Given the description of an element on the screen output the (x, y) to click on. 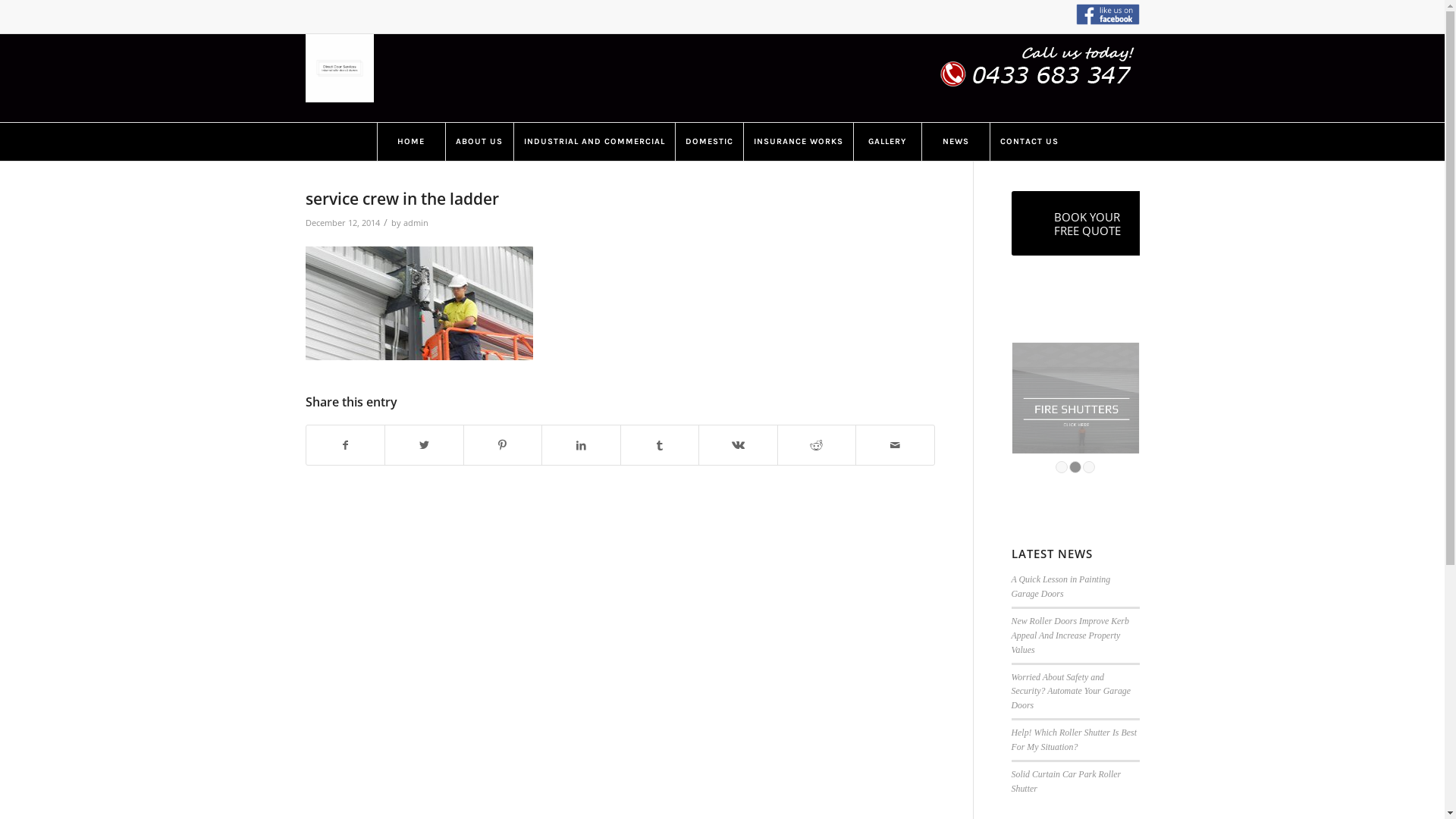
Help! Which Roller Shutter Is Best For My Situation? Element type: text (1073, 739)
1 Element type: text (1061, 467)
DOMESTIC Element type: text (708, 141)
NEWS Element type: text (954, 141)
GALLERY Element type: text (886, 141)
2 Element type: text (1075, 467)
INDUSTRIAL AND COMMERCIAL Element type: text (593, 141)
admin Element type: text (415, 222)
ABOUT US Element type: text (478, 141)
BOOK YOUR FREE QUOTE Element type: text (1087, 223)
INSURANCE WORKS Element type: text (798, 141)
Solid Curtain Car Park Roller Shutter Element type: text (1066, 780)
A Quick Lesson in Painting Garage Doors Element type: text (1060, 586)
HOME Element type: text (410, 141)
3 Element type: text (1088, 467)
CONTACT US Element type: text (1027, 141)
